Given the description of an element on the screen output the (x, y) to click on. 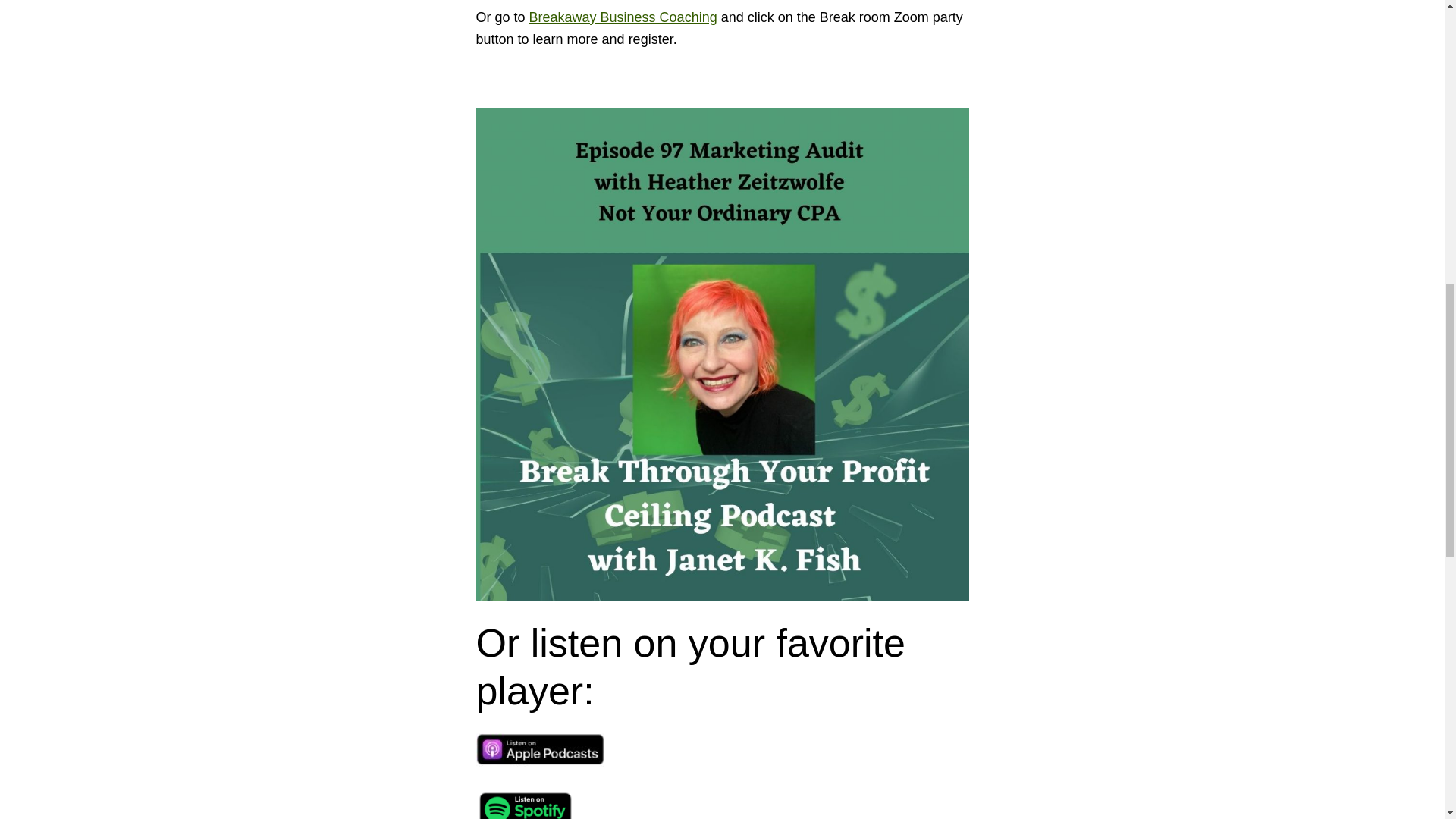
Breakaway Business Coaching (623, 17)
